Given the description of an element on the screen output the (x, y) to click on. 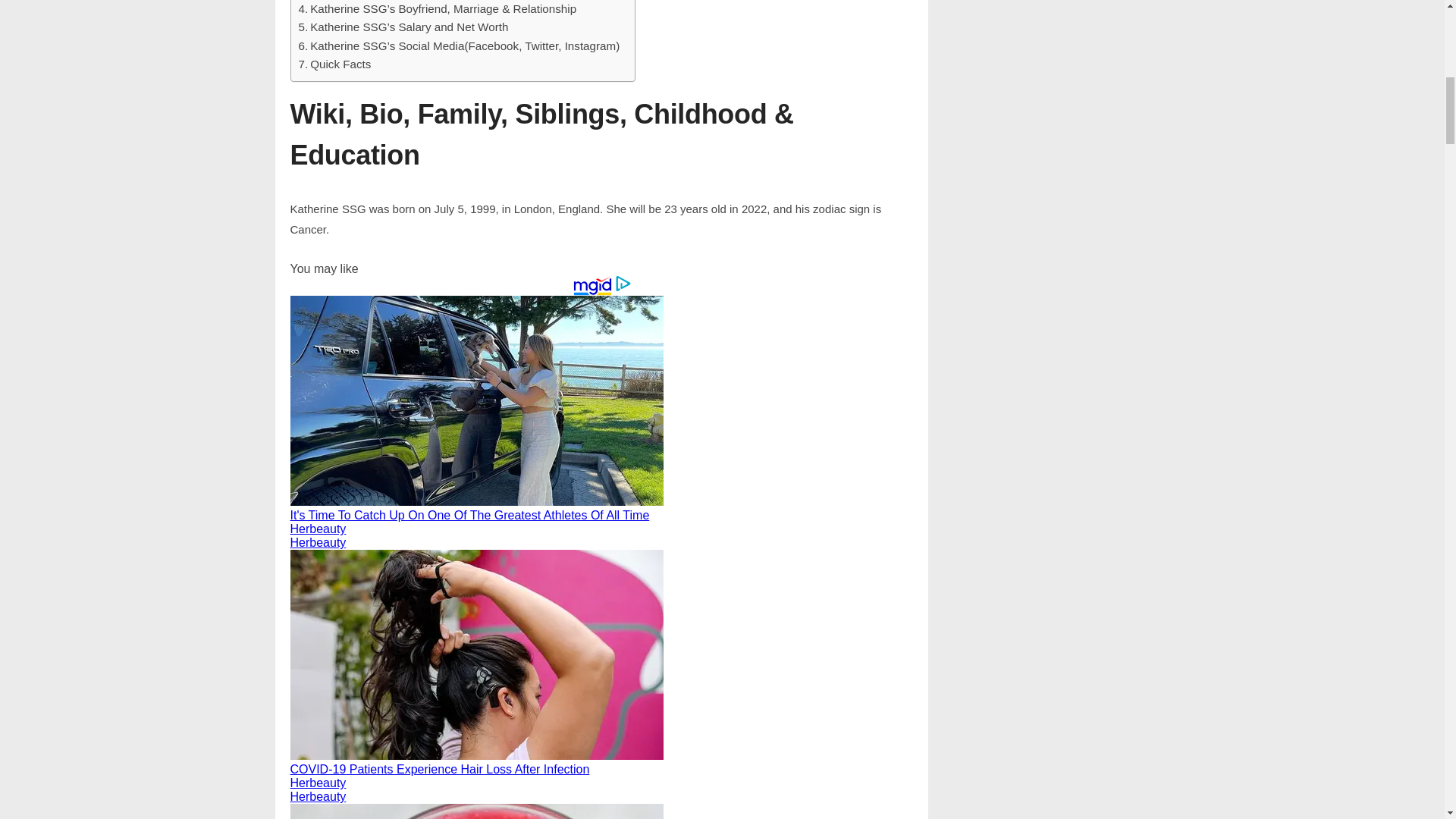
Quick Facts (334, 64)
Quick Facts (334, 64)
